Given the description of an element on the screen output the (x, y) to click on. 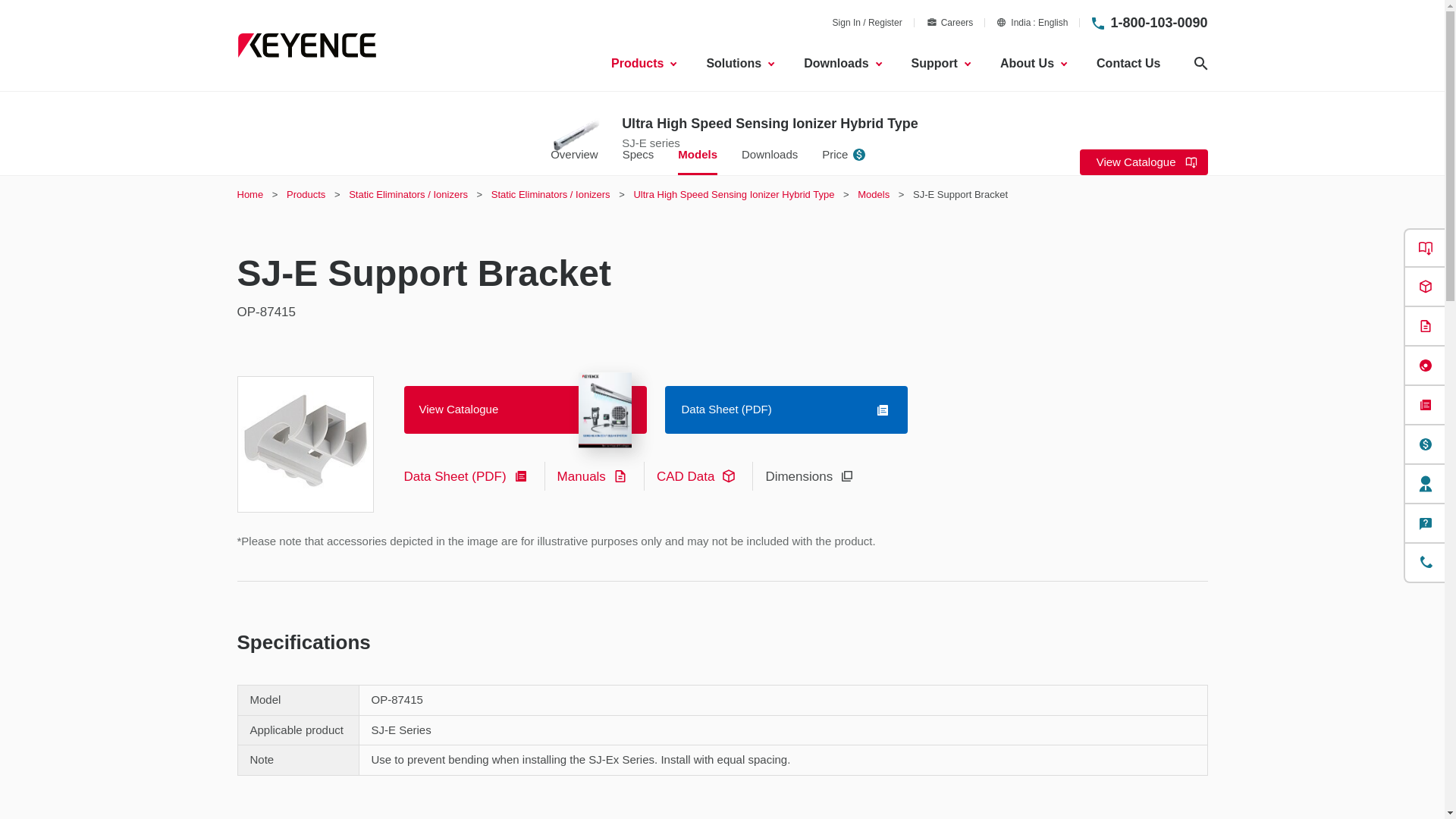
1-800-103-0090 (1032, 22)
Products (1158, 22)
Careers (643, 63)
